Given the description of an element on the screen output the (x, y) to click on. 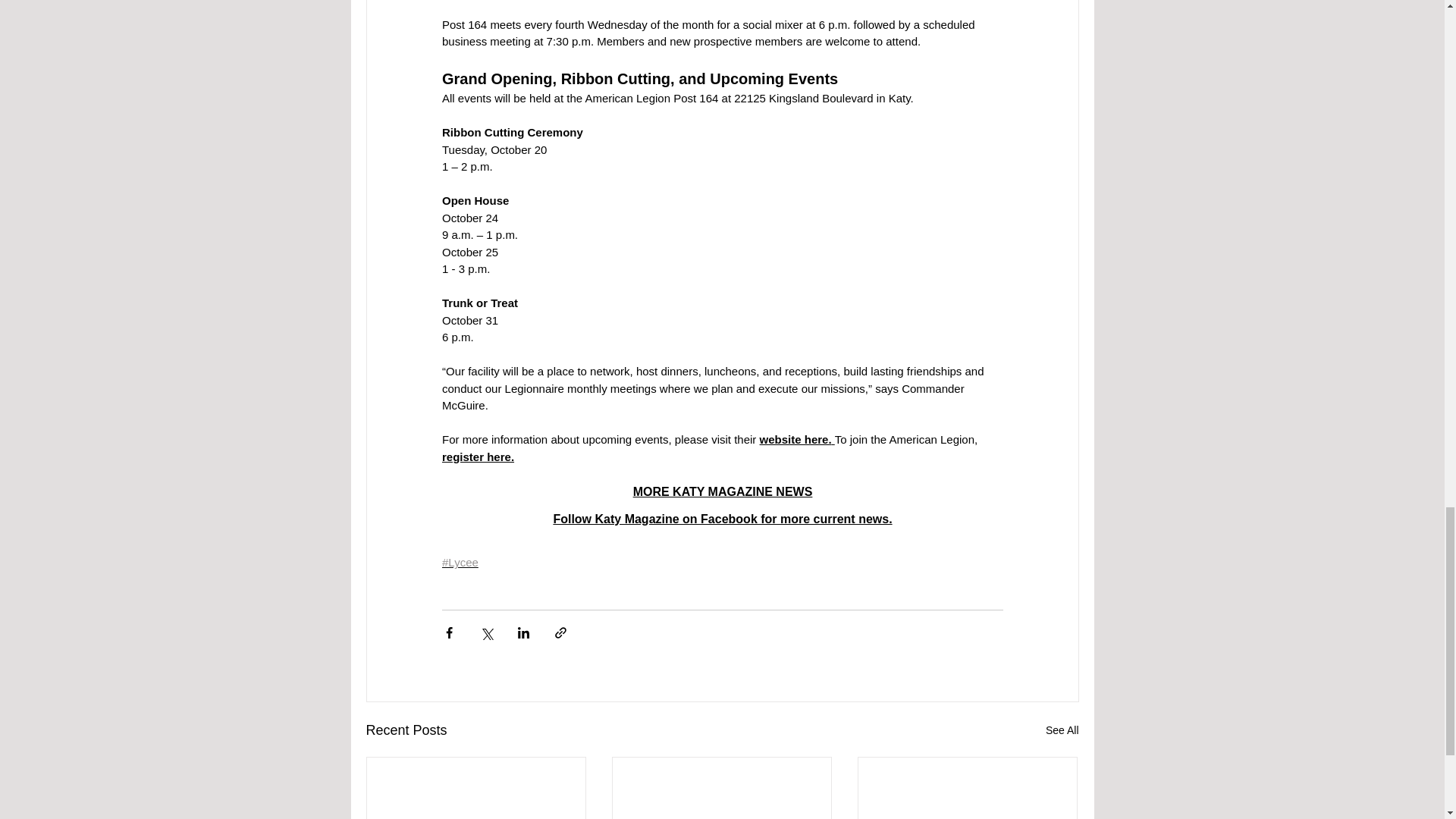
website here. (794, 439)
MORE KATY MAGAZINE NEWS (721, 491)
Follow Katy Magazine on Facebook for more current news. (722, 518)
register here. (477, 456)
See All (1061, 730)
